Given the description of an element on the screen output the (x, y) to click on. 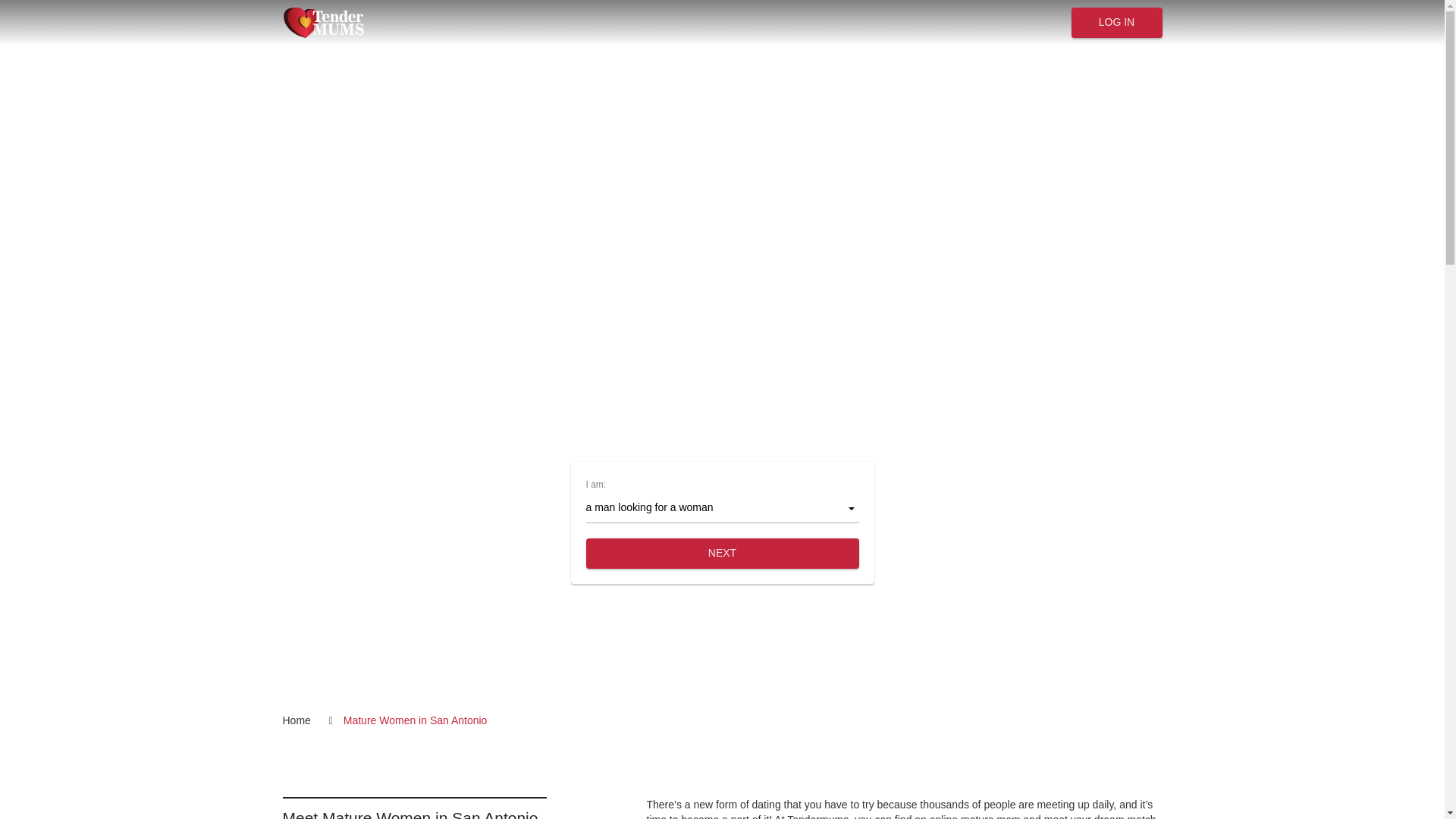
Home (310, 720)
LOG IN (1115, 22)
